Given the description of an element on the screen output the (x, y) to click on. 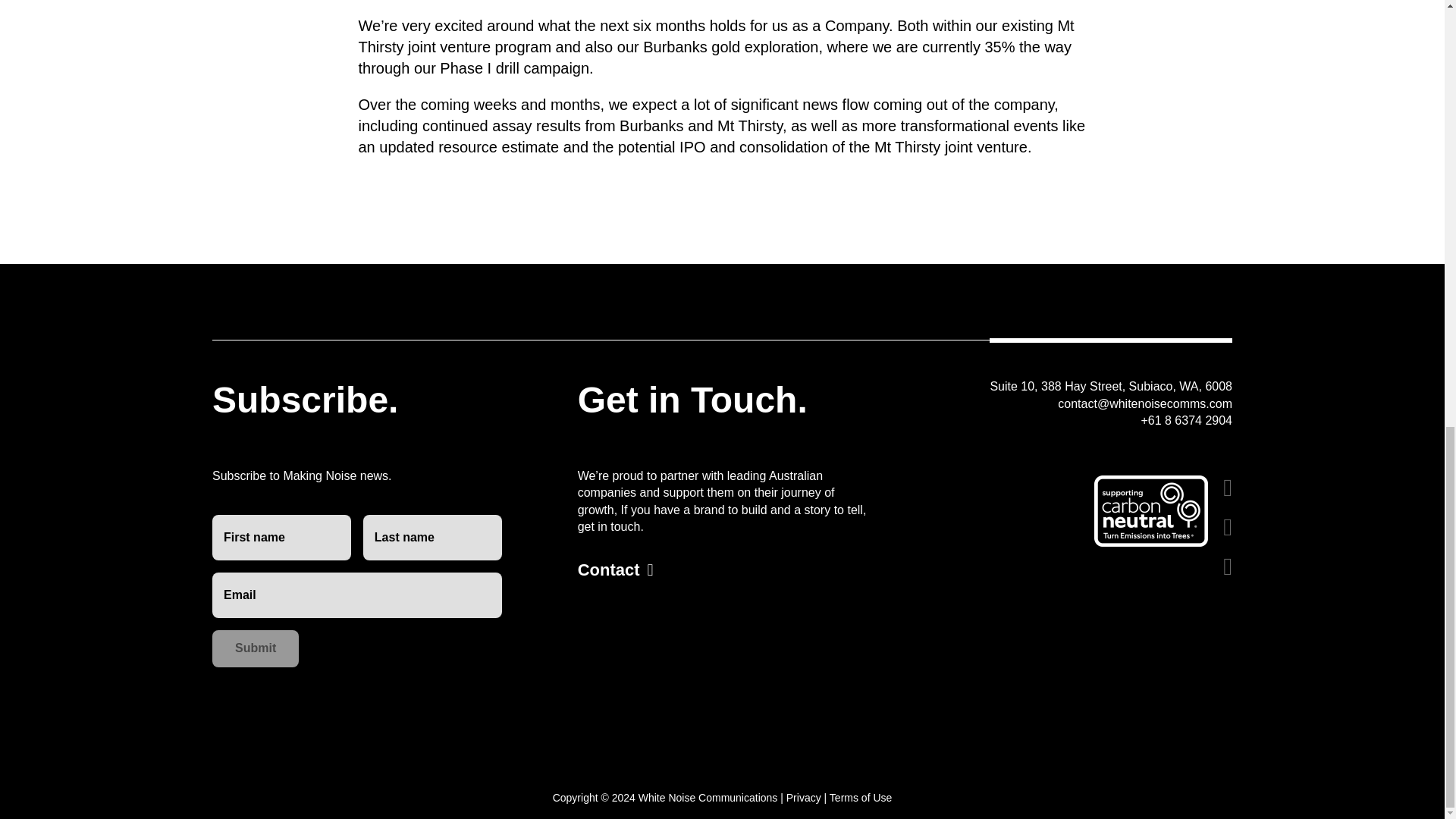
Submit (255, 647)
Terms of Use (860, 797)
Privacy (803, 797)
Submit (255, 647)
Contact (615, 570)
